Given the description of an element on the screen output the (x, y) to click on. 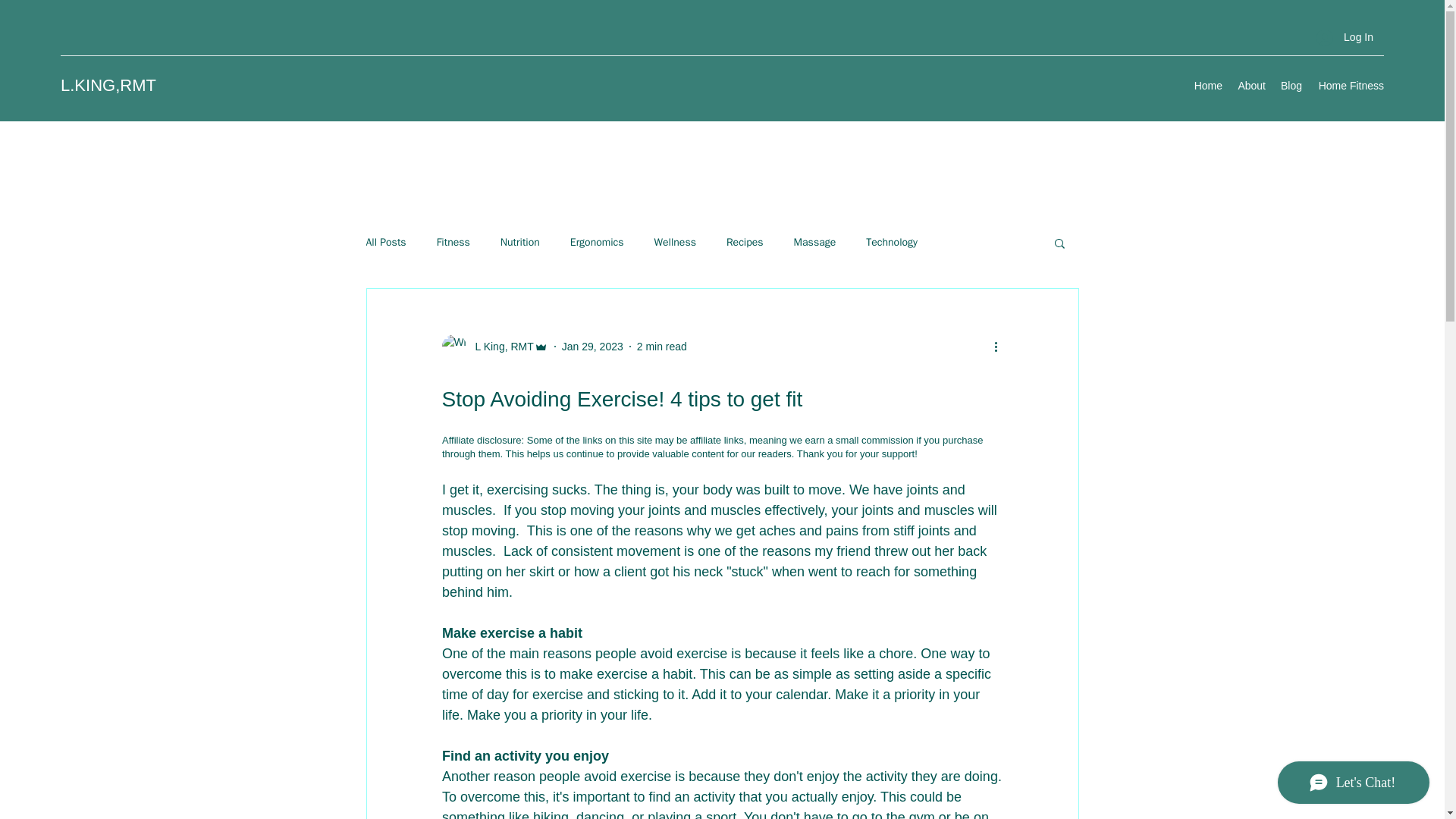
Home (1208, 85)
Jan 29, 2023 (592, 345)
Massage (814, 242)
Home Fitness (1349, 85)
Nutrition (520, 242)
Wellness (674, 242)
L.KING,RMT (108, 85)
About (1251, 85)
2 min read (662, 345)
L King, RMT (494, 346)
Fitness (453, 242)
Ergonomics (597, 242)
Recipes (744, 242)
Log In (1345, 37)
Technology (891, 242)
